Given the description of an element on the screen output the (x, y) to click on. 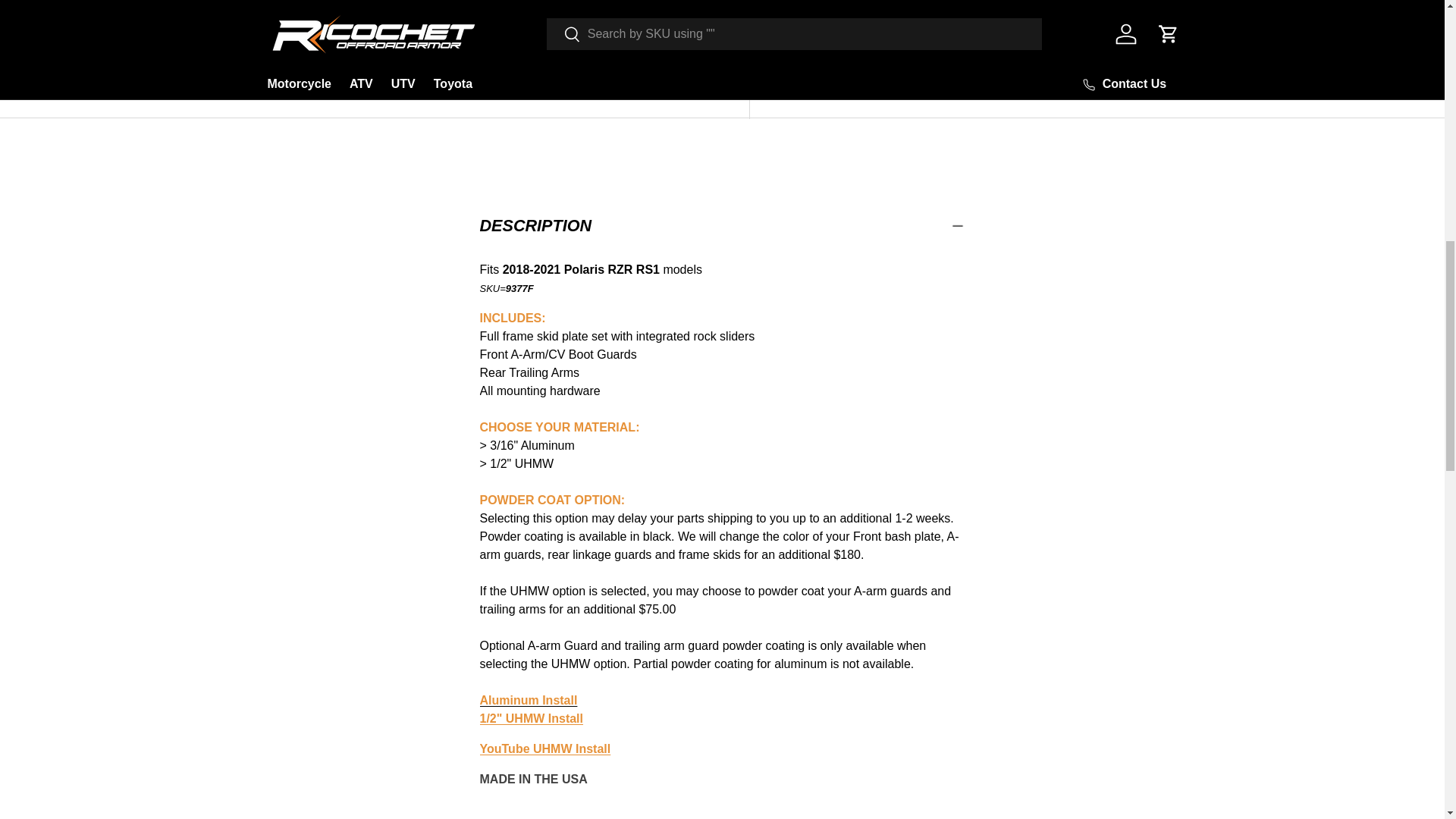
RZR RS1 Ricochet UHMW Install video (544, 748)
RZR RS1 Install (527, 699)
